Given the description of an element on the screen output the (x, y) to click on. 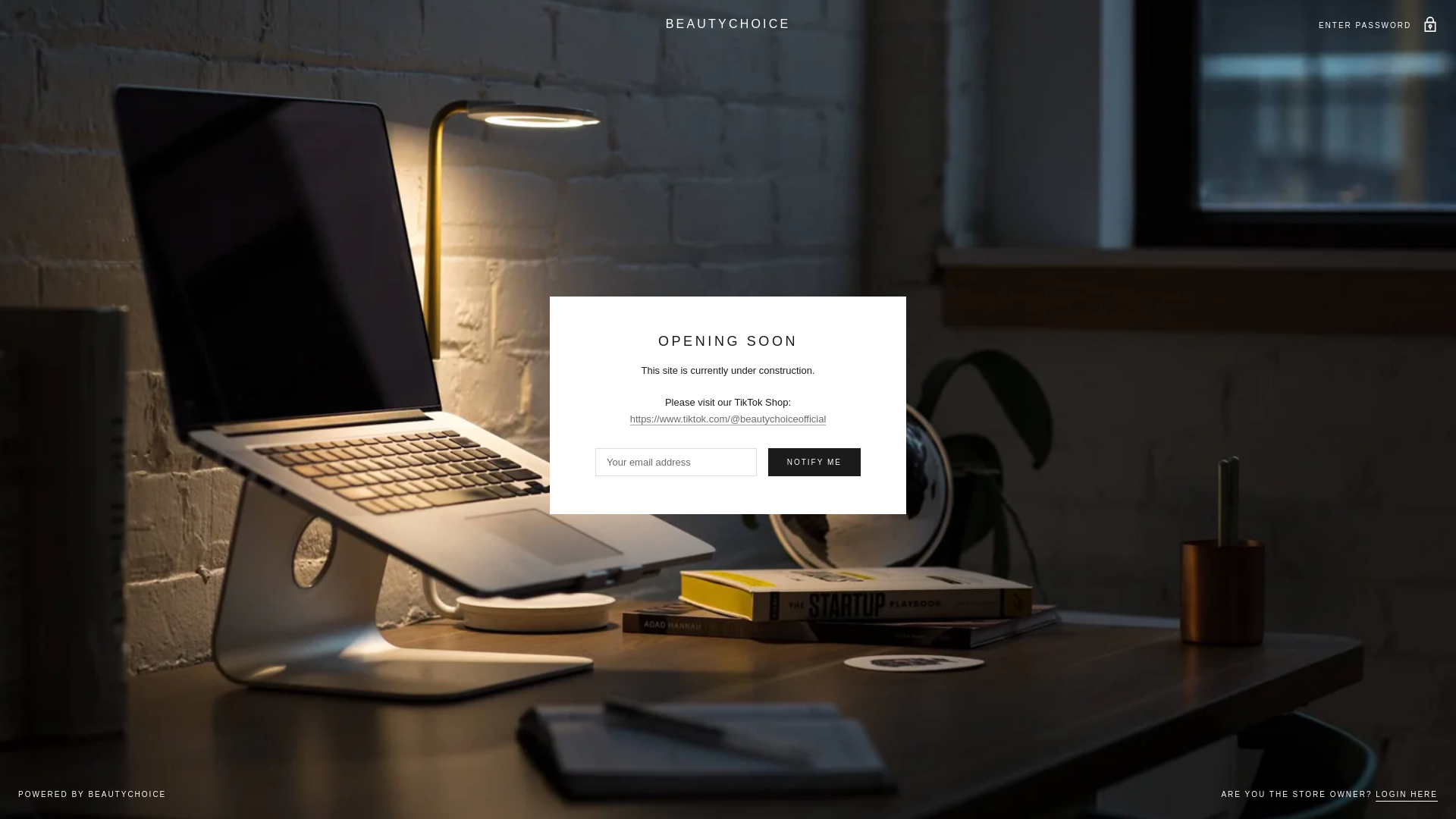
ENTER PASSWORD (1378, 23)
LOGIN HERE (1406, 794)
NOTIFY ME (814, 461)
